Given the description of an element on the screen output the (x, y) to click on. 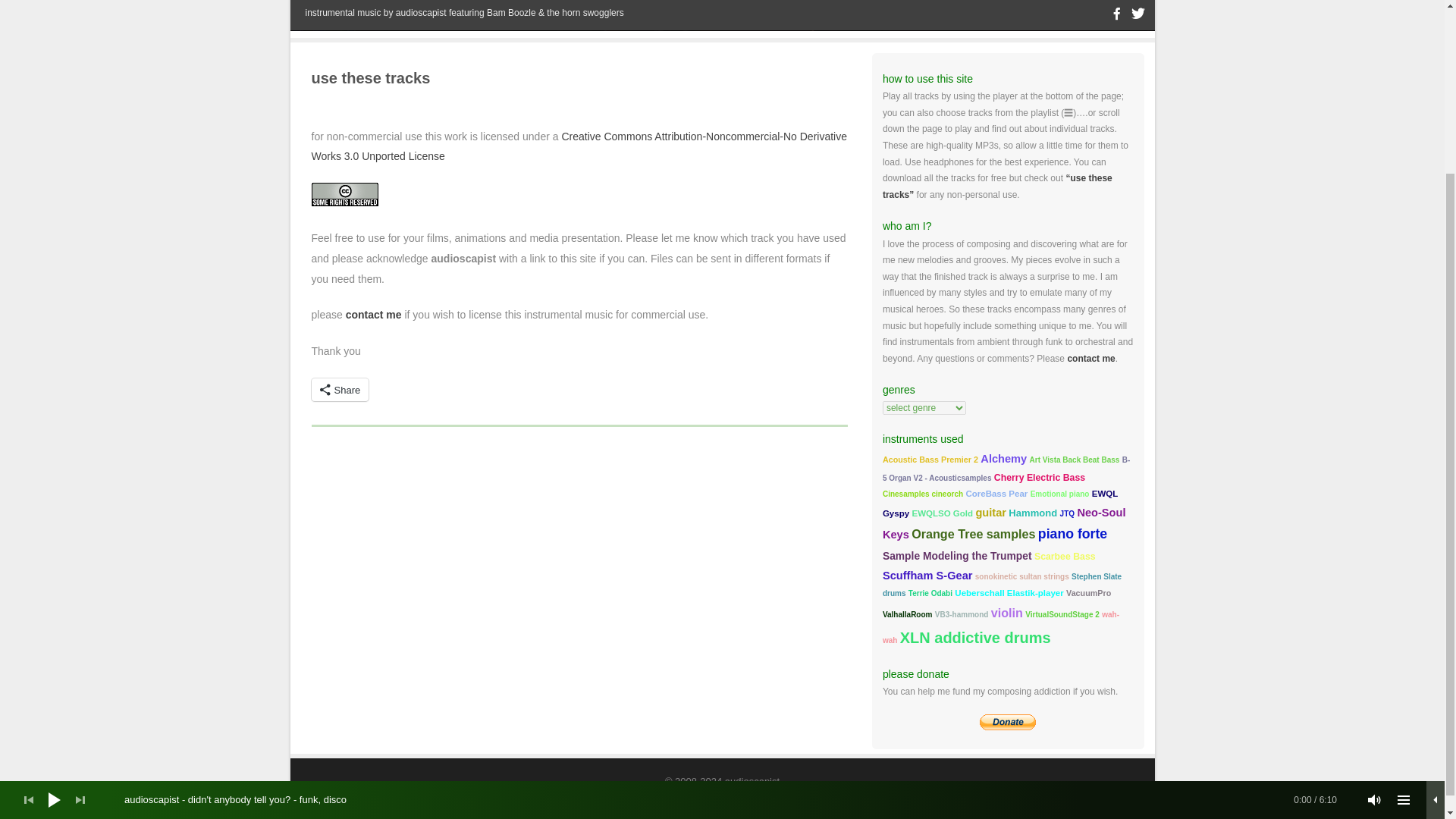
contact me (373, 314)
Scarbee Bass (1064, 556)
B-5 Organ V2 - Acousticsamples (1005, 468)
2 topics (1074, 459)
contact me (1091, 357)
Art Vista Back Beat Bass (1074, 459)
guitar (990, 512)
audioscapist (721, 27)
CoreBass Pear (996, 492)
